Given the description of an element on the screen output the (x, y) to click on. 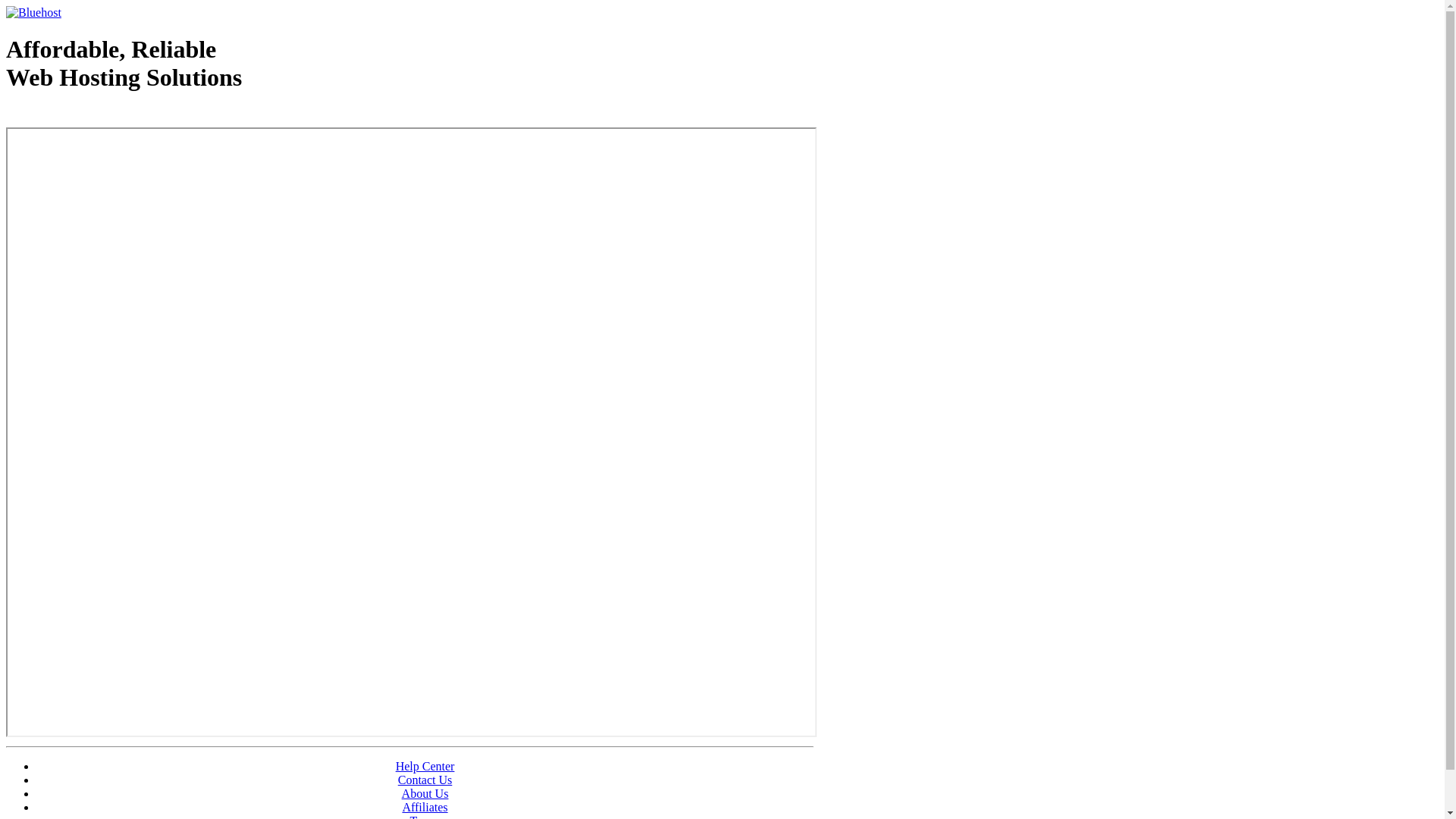
About Us Element type: text (424, 793)
Web Hosting - courtesy of www.bluehost.com Element type: text (94, 115)
Help Center Element type: text (425, 765)
Affiliates Element type: text (424, 806)
Contact Us Element type: text (425, 779)
